Given the description of an element on the screen output the (x, y) to click on. 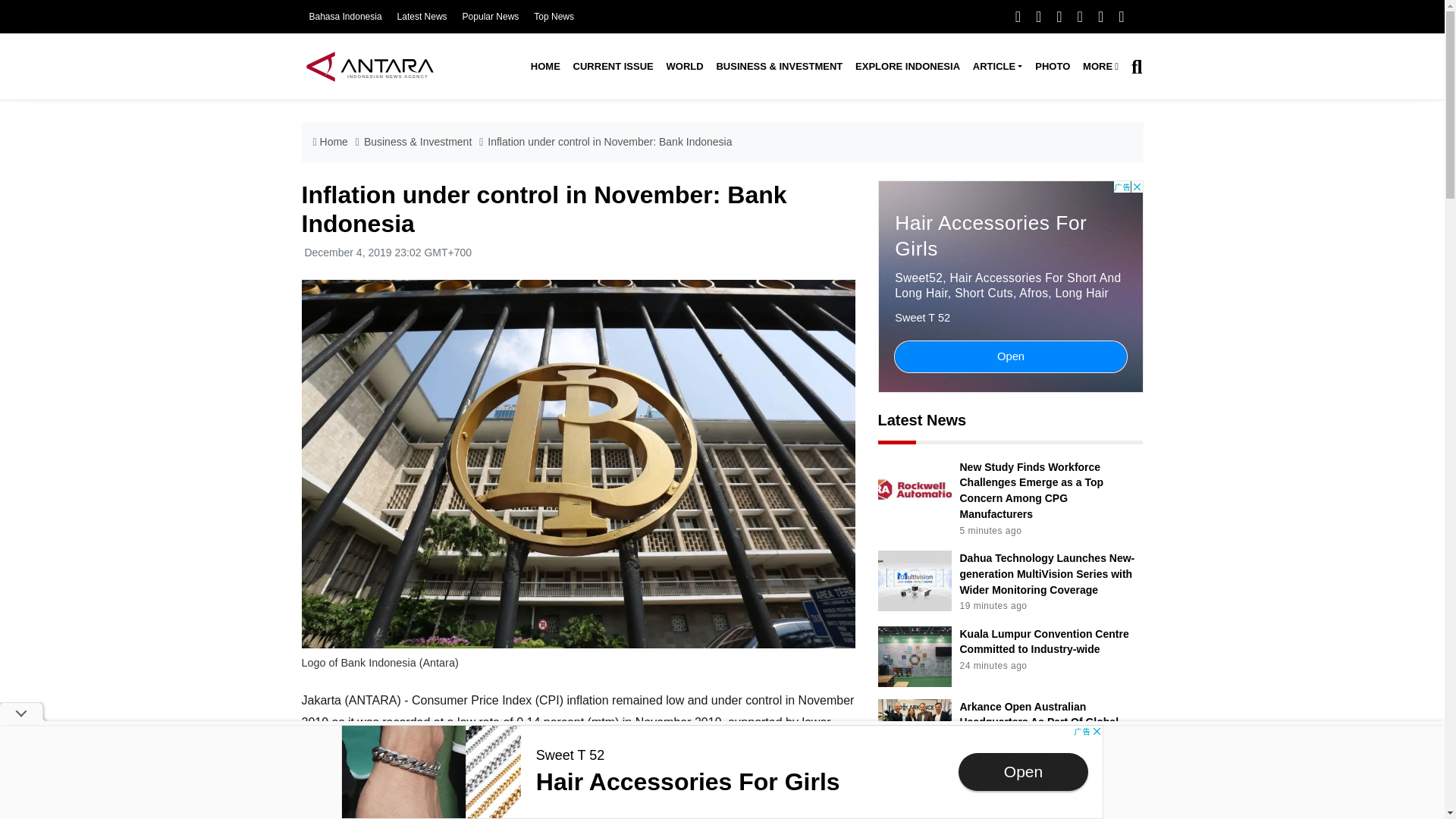
Latest News (421, 16)
PHOTO (1053, 66)
Latest News (421, 16)
ARTICLE (996, 66)
Current Issue (612, 66)
Tiktok ANTARA (1100, 15)
EXPLORE INDONESIA (907, 66)
Top News (553, 16)
WORLD (684, 66)
Instagram ANTARA (1059, 15)
Article (996, 66)
Twitter ANTARA (1038, 15)
Explore Indonesia (907, 66)
Facebook ANTARA (1017, 15)
